Given the description of an element on the screen output the (x, y) to click on. 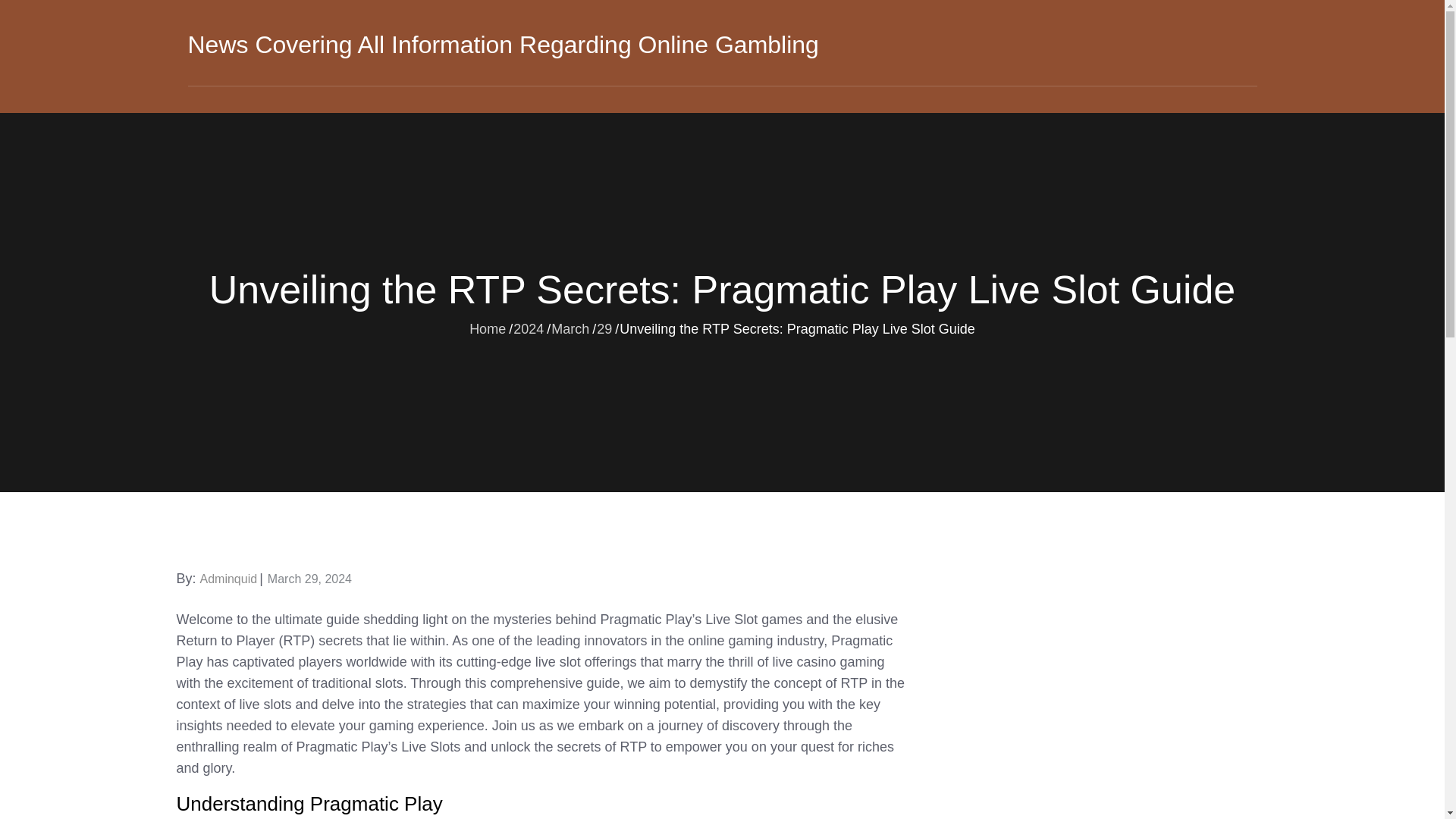
Adminquid (228, 578)
2024 (528, 328)
News Covering All Information Regarding Online Gambling (502, 44)
Home (486, 328)
March 29, 2024 (309, 578)
29 (603, 328)
March (570, 328)
